Given the description of an element on the screen output the (x, y) to click on. 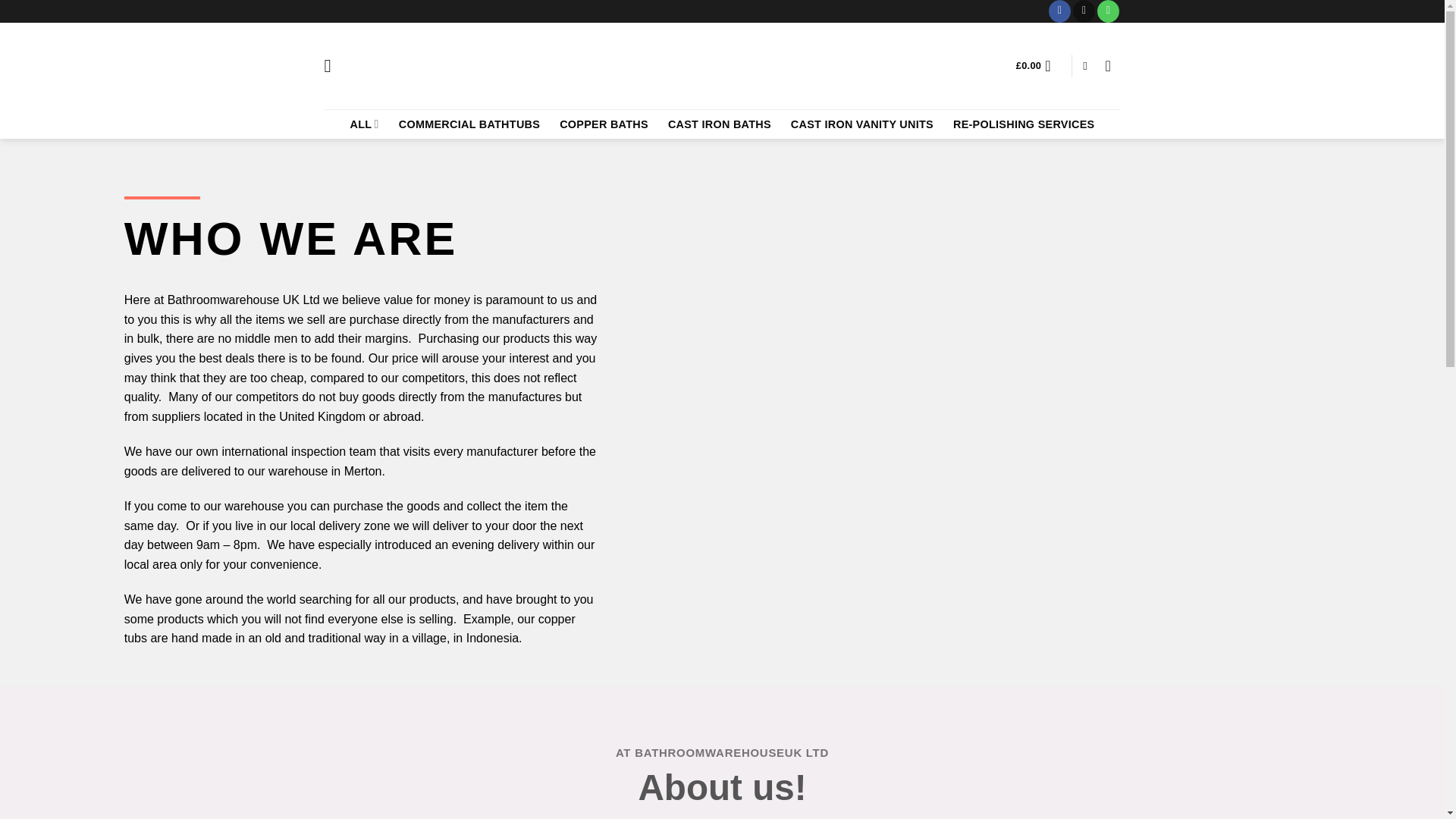
Call us (1108, 11)
Follow on Facebook (1059, 11)
CAST IRON VANITY UNITS (861, 124)
CAST IRON BATHS (719, 124)
COPPER BATHS (603, 124)
RE-POLISHING SERVICES (1023, 124)
Bathroom Warehouse UK (721, 65)
Send us an email (1083, 11)
COMMERCIAL BATHTUBS (469, 124)
ALL (364, 123)
